Given the description of an element on the screen output the (x, y) to click on. 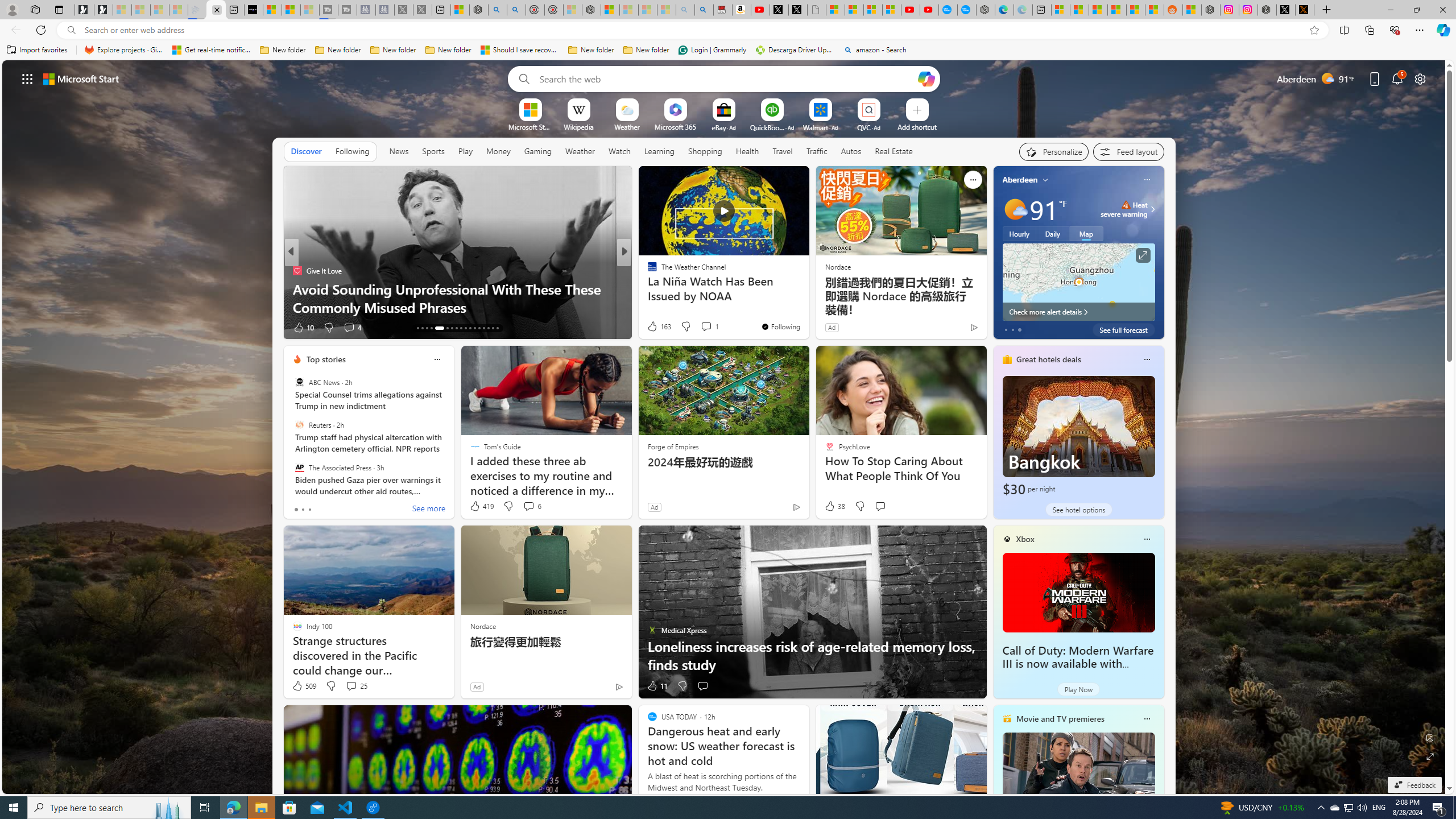
Larger map  (1077, 282)
tab-1 (302, 509)
New folder (646, 49)
View comments 11 Comment (703, 327)
The most popular Google 'how to' searches (966, 9)
74 Like (652, 327)
To get missing image descriptions, open the context menu. (529, 109)
Favorites bar (728, 49)
poe ++ standard - Search (515, 9)
View comments 91 Comment (698, 327)
Shopping (705, 151)
10 Like (652, 327)
